Given the description of an element on the screen output the (x, y) to click on. 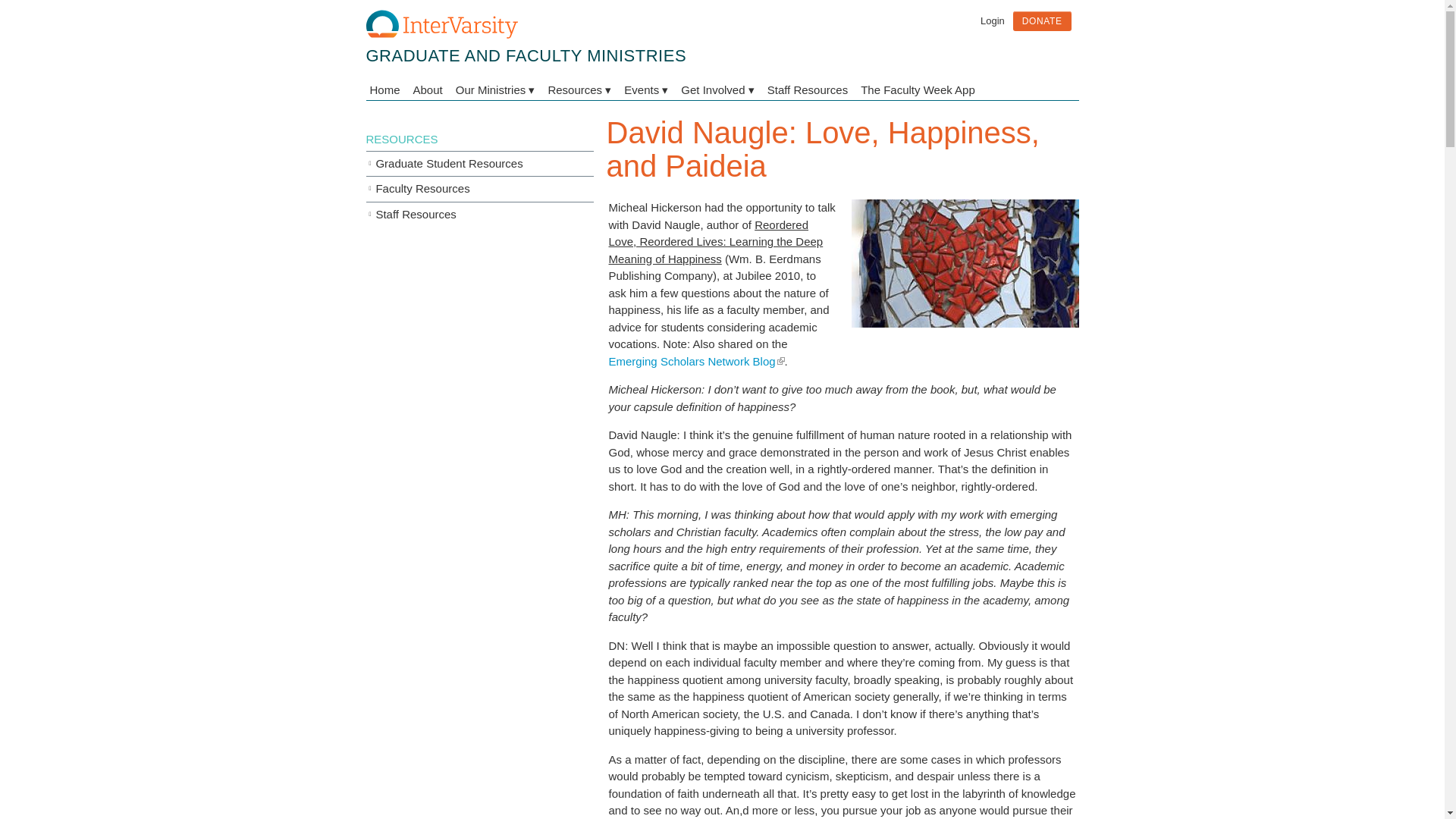
Home (525, 55)
Login (992, 20)
InterVarsity (440, 34)
About (427, 89)
Home (386, 89)
DONATE (1042, 21)
GRADUATE AND FACULTY MINISTRIES (525, 55)
Staff Resources (806, 89)
The Faculty Week App (917, 89)
